Given the description of an element on the screen output the (x, y) to click on. 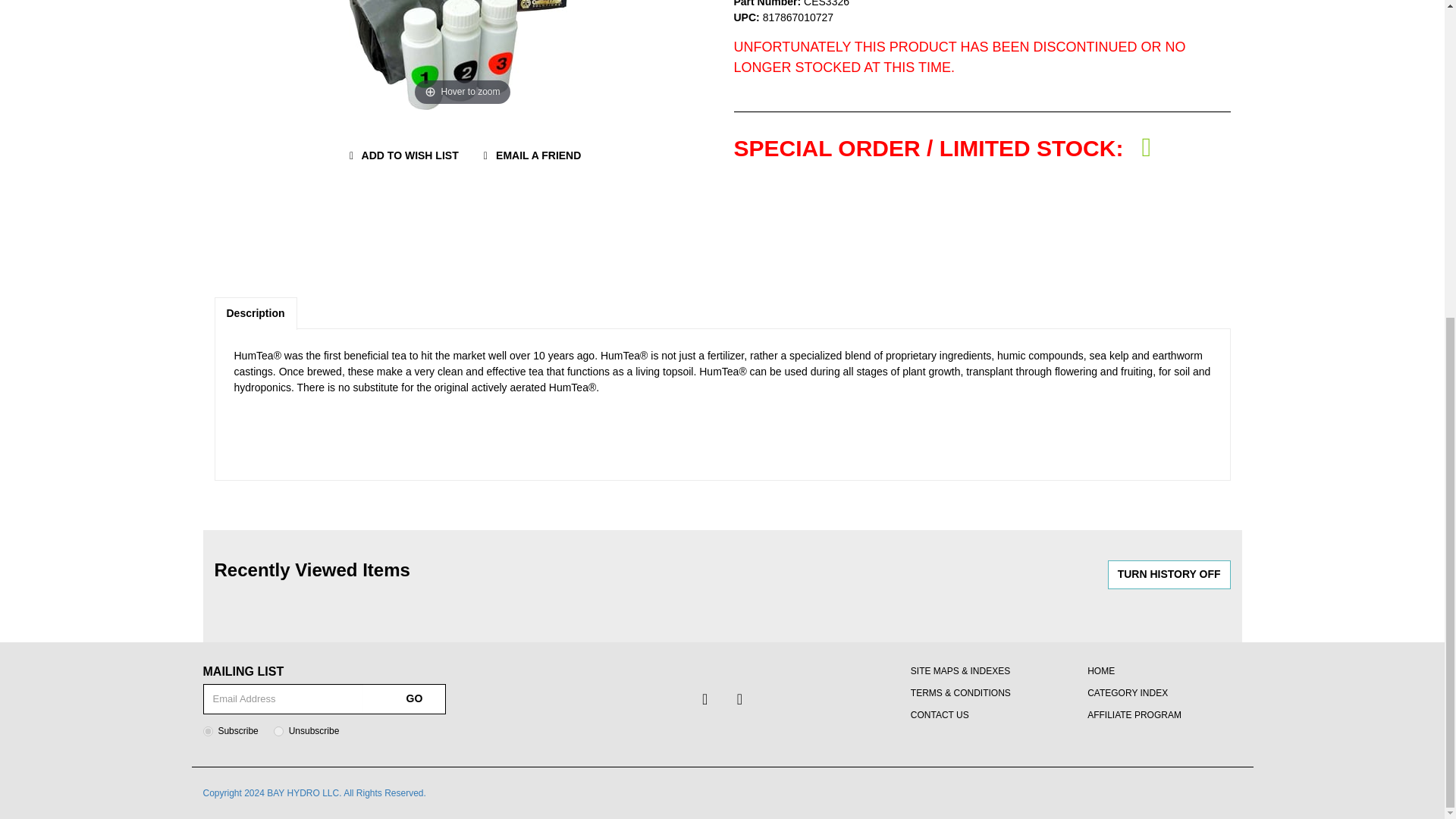
0 (278, 731)
PayPal (828, 202)
1 (207, 731)
